Given the description of an element on the screen output the (x, y) to click on. 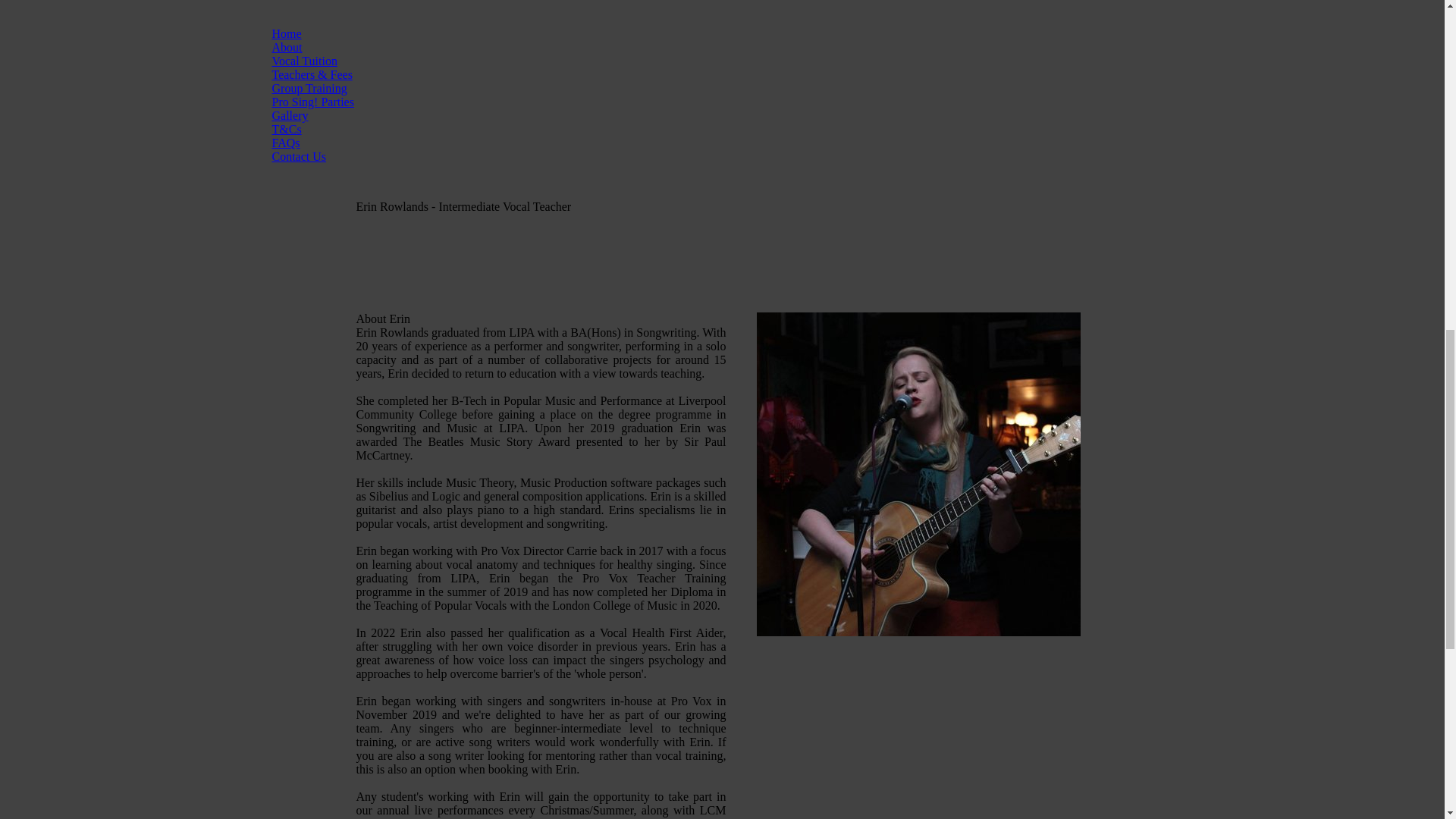
Pro Sing! Parties (311, 101)
Home (285, 33)
FAQs (284, 142)
About (285, 47)
Vocal Tuition (303, 60)
Gallery (288, 115)
Group Training (308, 88)
Contact Us (298, 155)
